Given the description of an element on the screen output the (x, y) to click on. 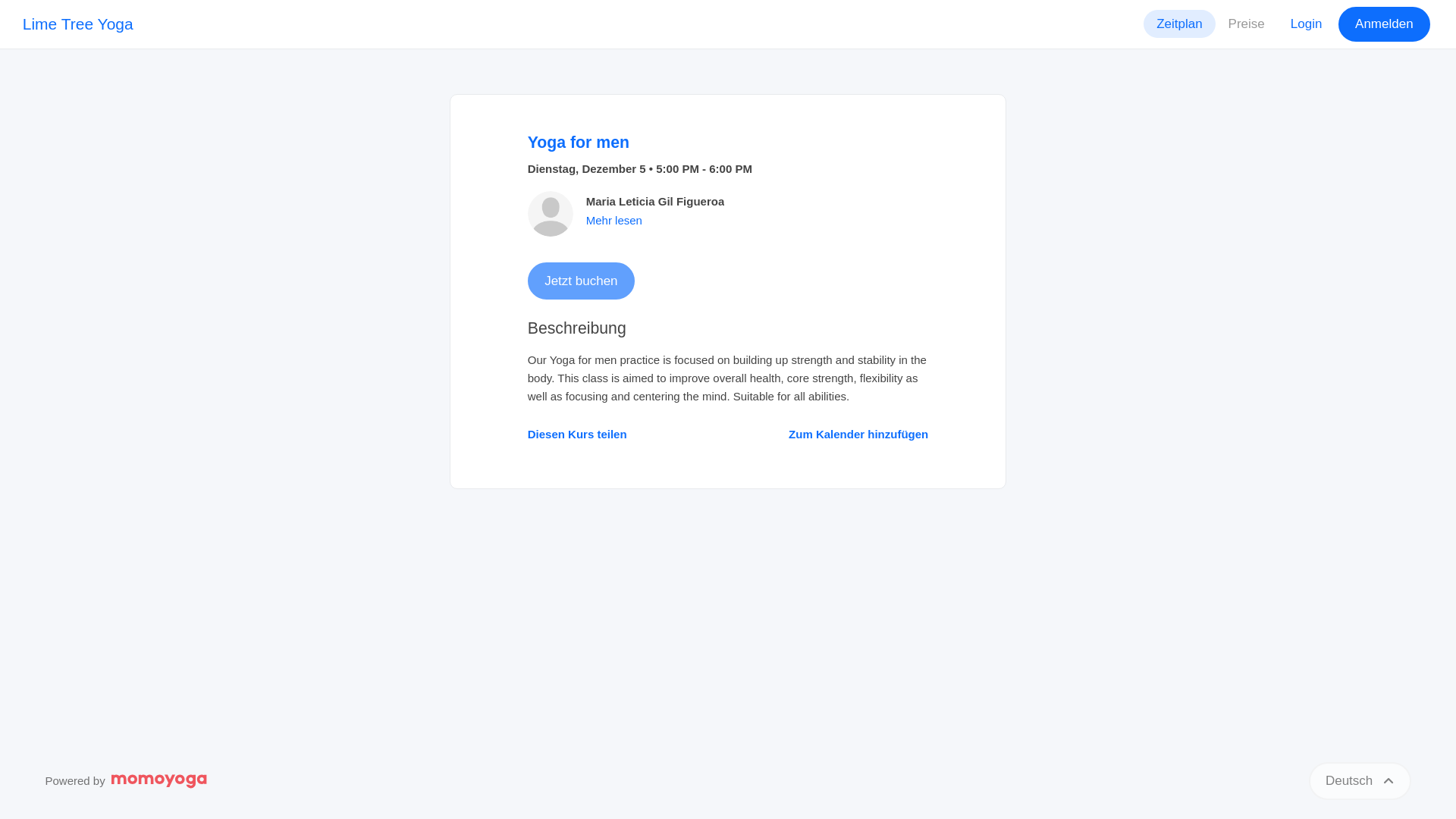
Preise (1246, 23)
Login (1306, 23)
Zeitplan (1178, 23)
Deutsch (1359, 781)
Mehr lesen (614, 219)
Lime Tree Yoga (78, 23)
Anmelden (1383, 23)
Du kannst diesen Kurs nicht buchen (580, 281)
Jetzt buchen (580, 281)
Diesen Kurs teilen (577, 434)
